Given the description of an element on the screen output the (x, y) to click on. 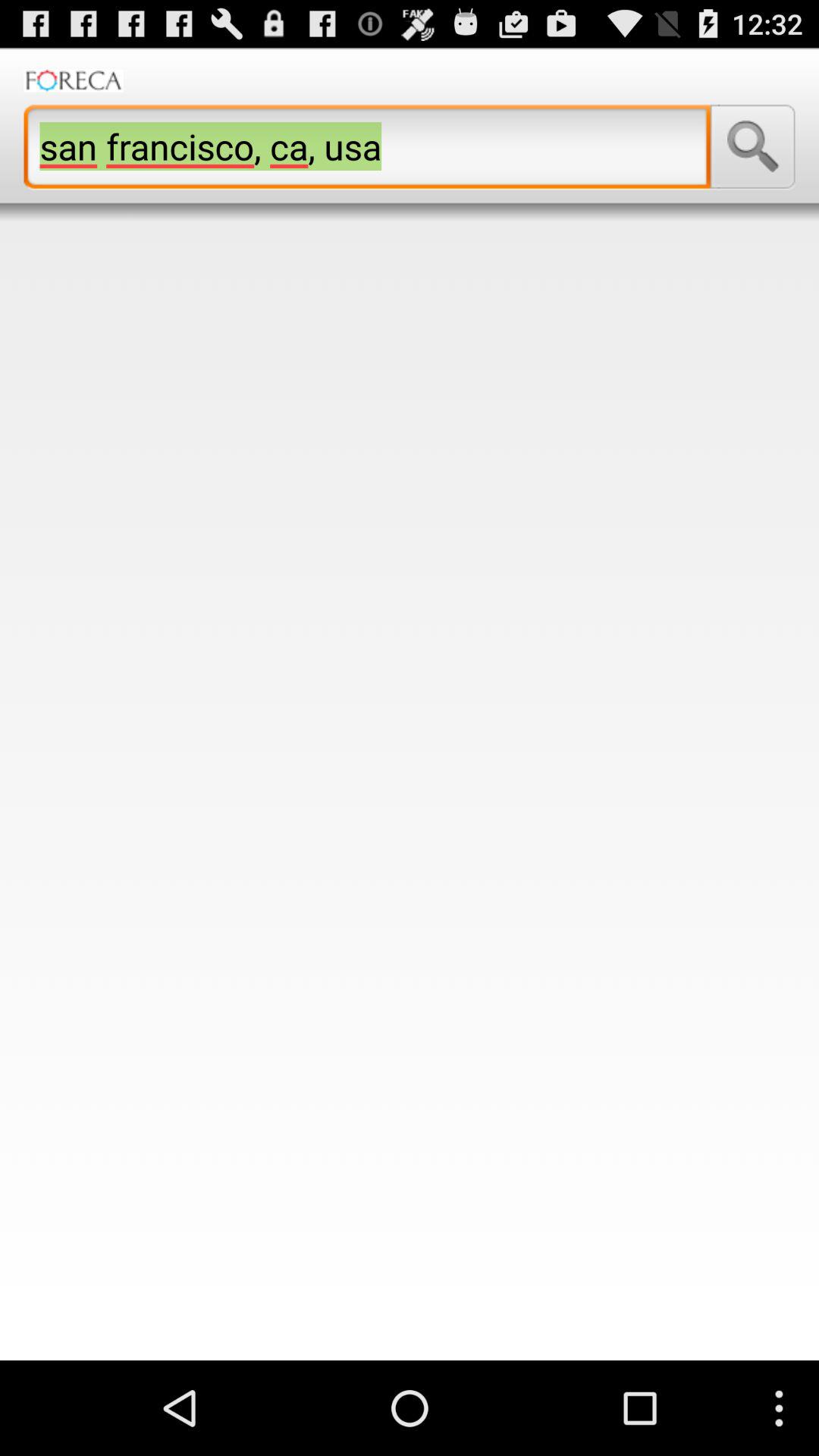
swipe to the san francisco ca (366, 146)
